Given the description of an element on the screen output the (x, y) to click on. 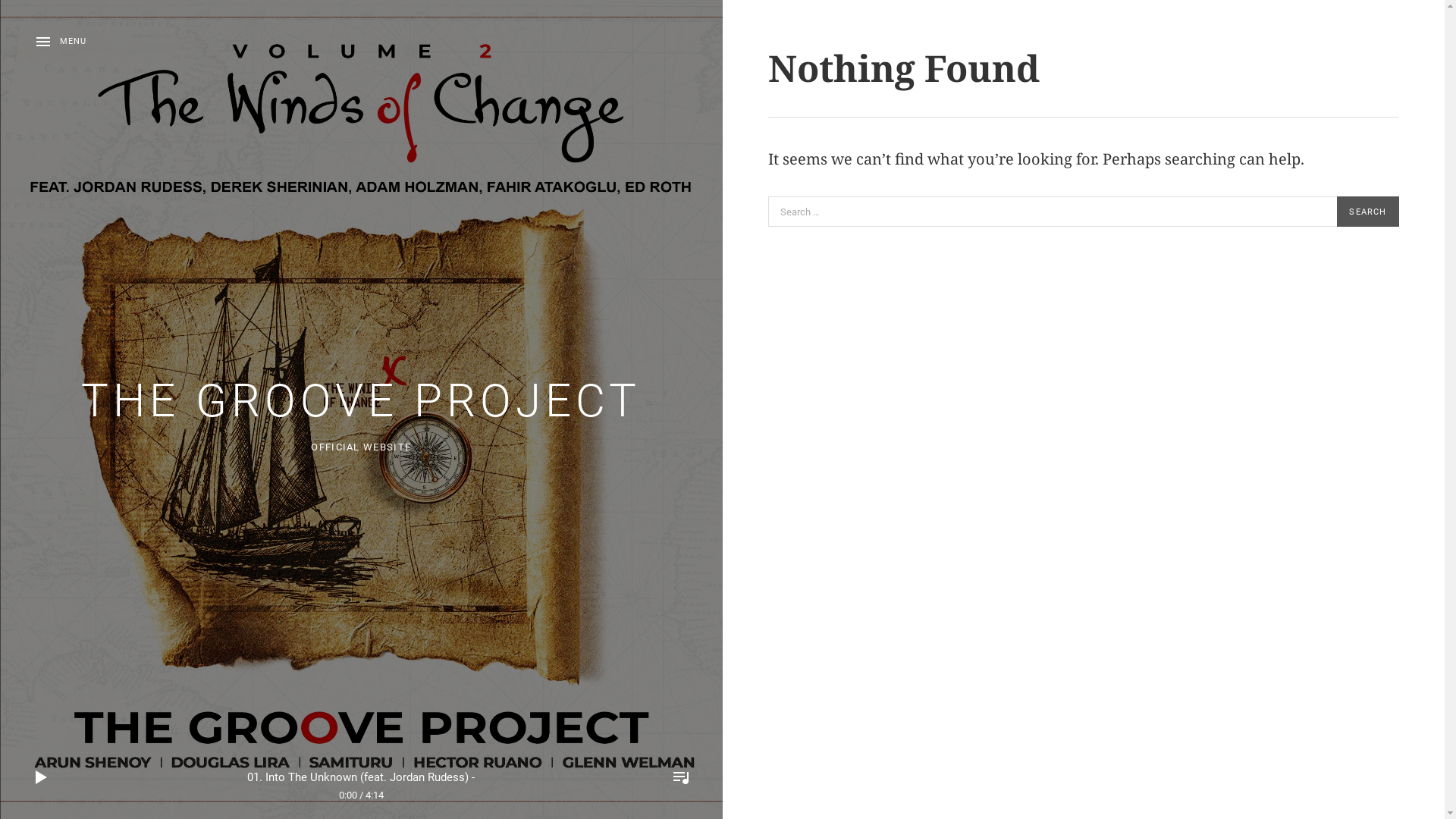
THE GROOVE PROJECT Element type: text (360, 400)
PLAY Element type: text (41, 777)
SEARCH Element type: text (1367, 211)
MENU Element type: text (60, 41)
TOGGLE PLAYER Element type: text (680, 777)
Search for: Element type: hover (1051, 211)
